Given the description of an element on the screen output the (x, y) to click on. 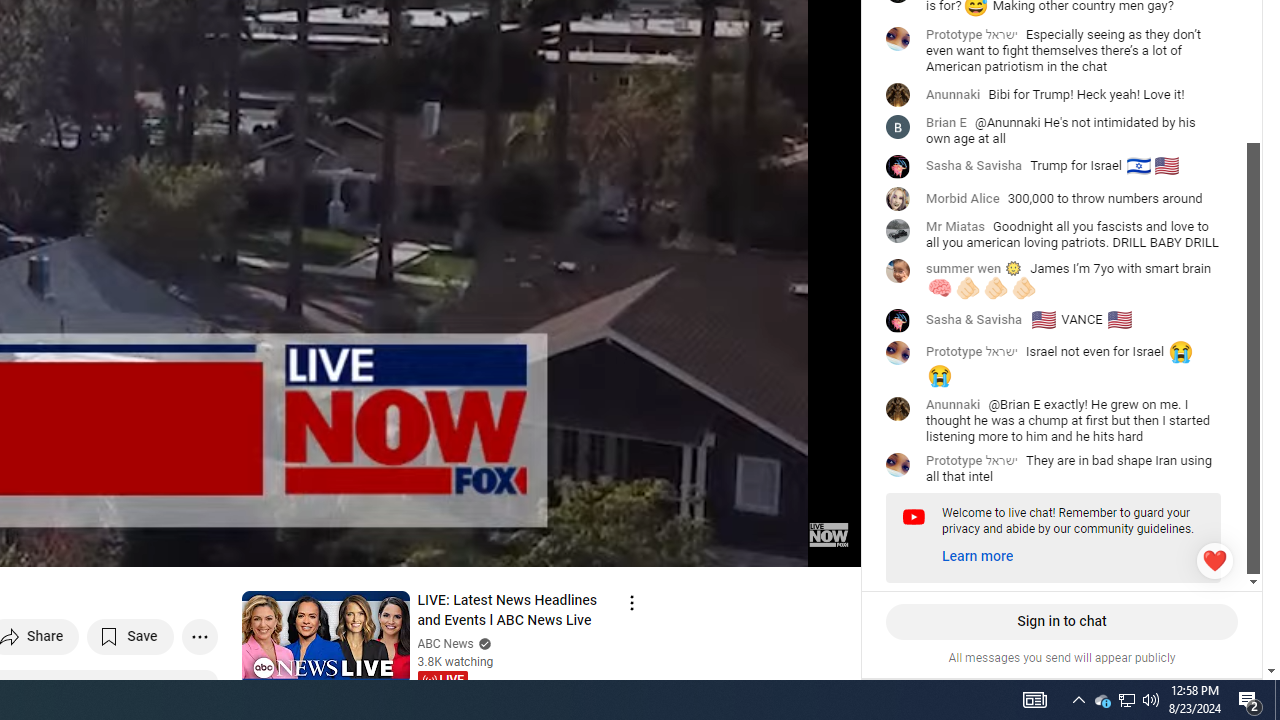
Channel watermark (828, 534)
Channel watermark (828, 534)
Theater mode keyboard shortcut t (776, 543)
Save to playlist (130, 636)
Verified (482, 642)
